Given the description of an element on the screen output the (x, y) to click on. 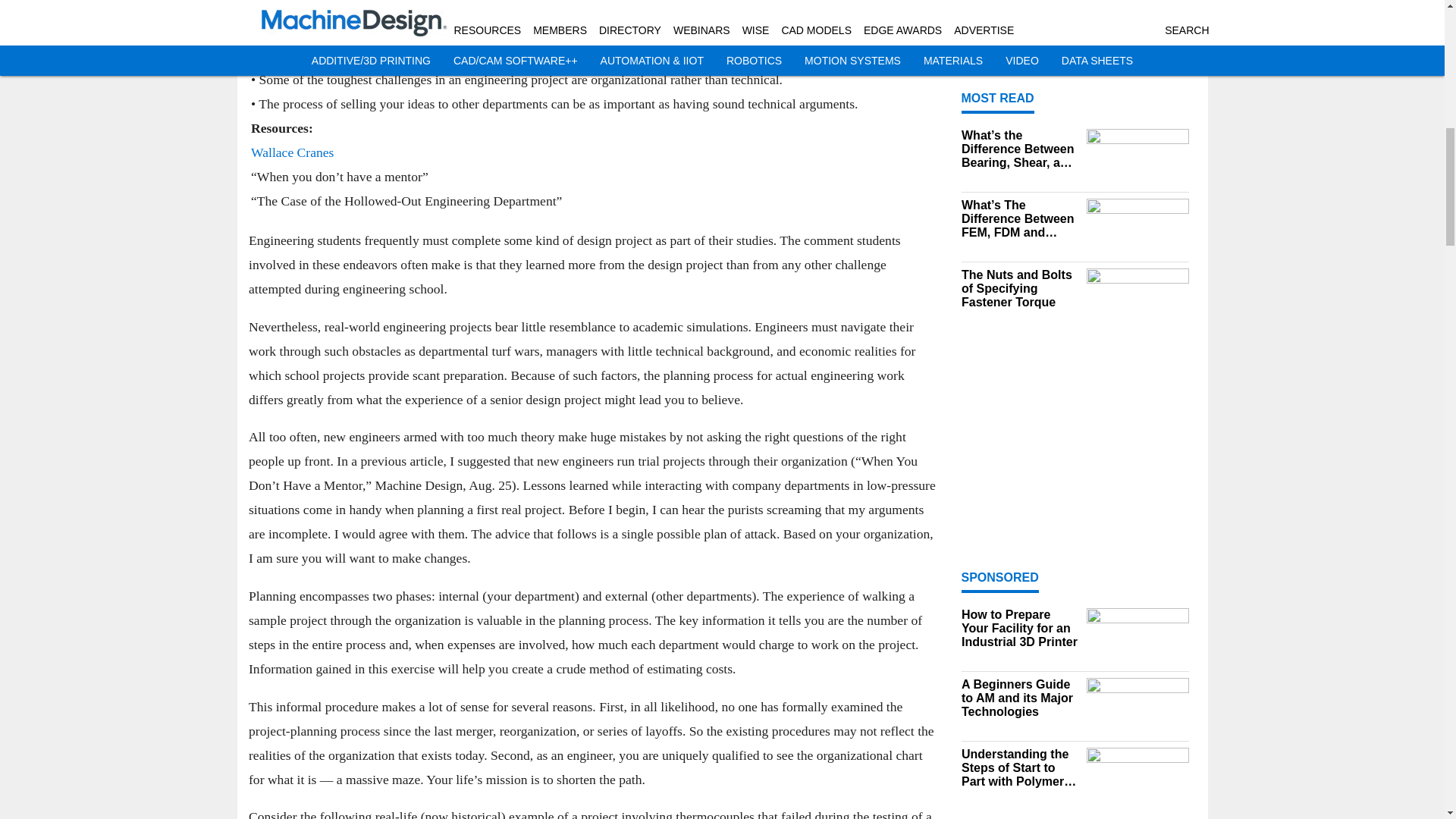
Wallace Cranes (291, 151)
